Given the description of an element on the screen output the (x, y) to click on. 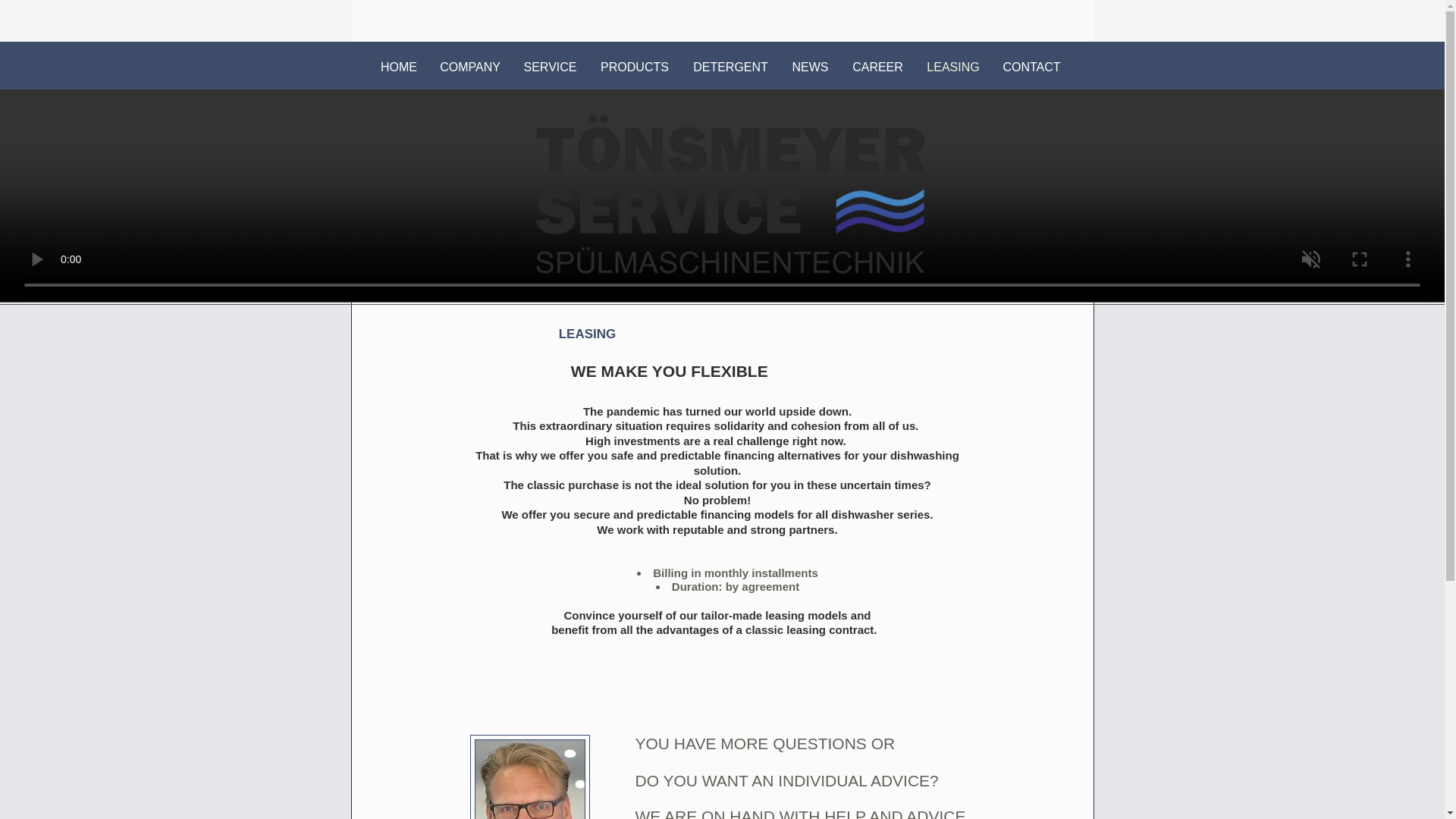
DETERGENT (730, 67)
CAREER (877, 67)
SERVICE (550, 67)
COMPANY (470, 67)
LEASING (953, 67)
NEWS (810, 67)
HOME (398, 67)
CONTACT (1031, 67)
PRODUCTS (634, 67)
